Given the description of an element on the screen output the (x, y) to click on. 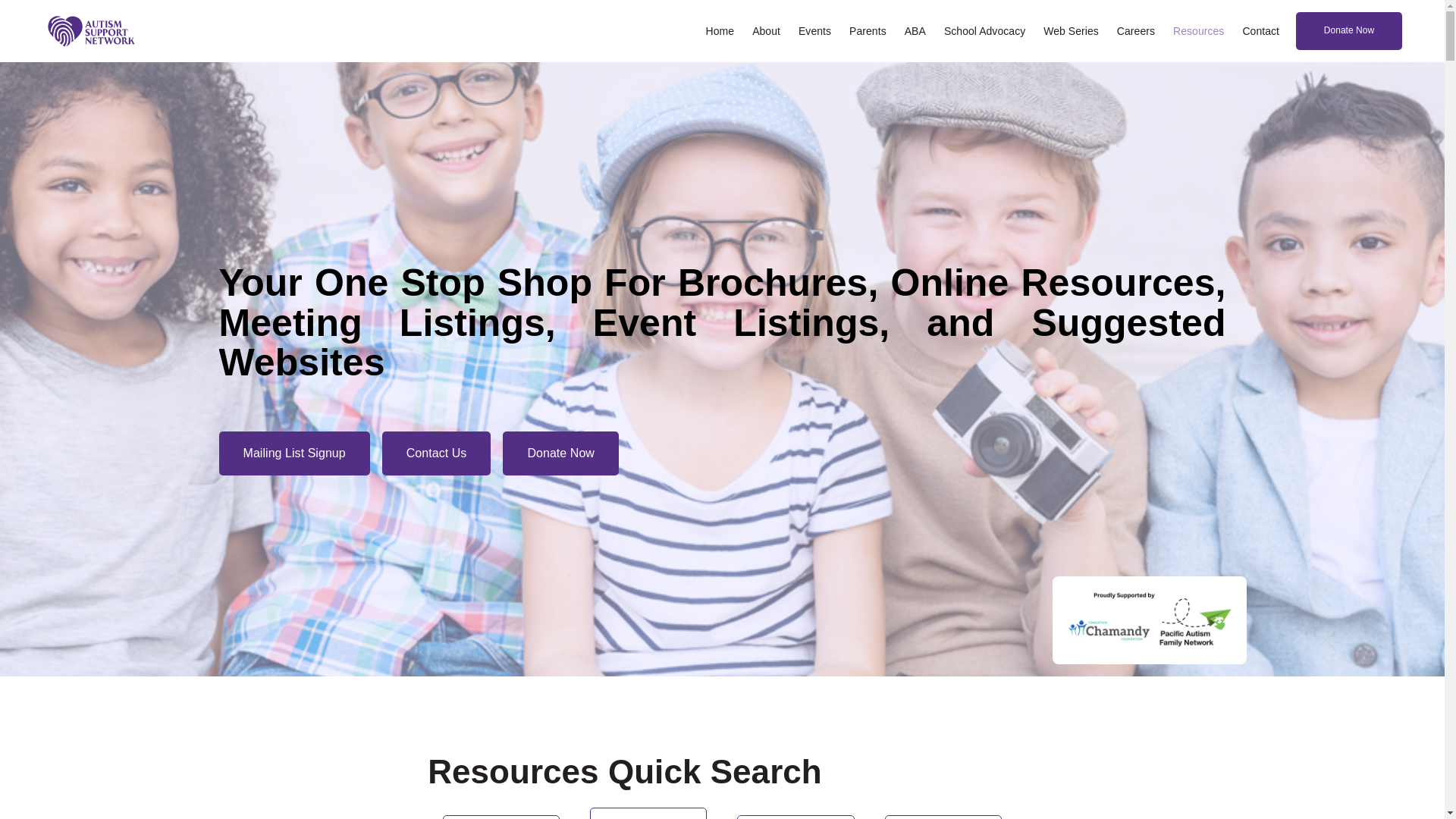
Home Element type: text (719, 30)
Web Series Element type: text (1070, 30)
School Advocacy Element type: text (984, 30)
ABA Element type: text (915, 30)
Resources Element type: text (1198, 30)
Donate Now Element type: text (560, 453)
Contact Element type: text (1260, 30)
Careers Element type: text (1135, 30)
About Element type: text (766, 30)
Parents Element type: text (867, 30)
Events Element type: text (814, 30)
Mailing List Signup Element type: text (293, 453)
Contact Us Element type: text (436, 453)
Donate Now Element type: text (1348, 31)
